Given the description of an element on the screen output the (x, y) to click on. 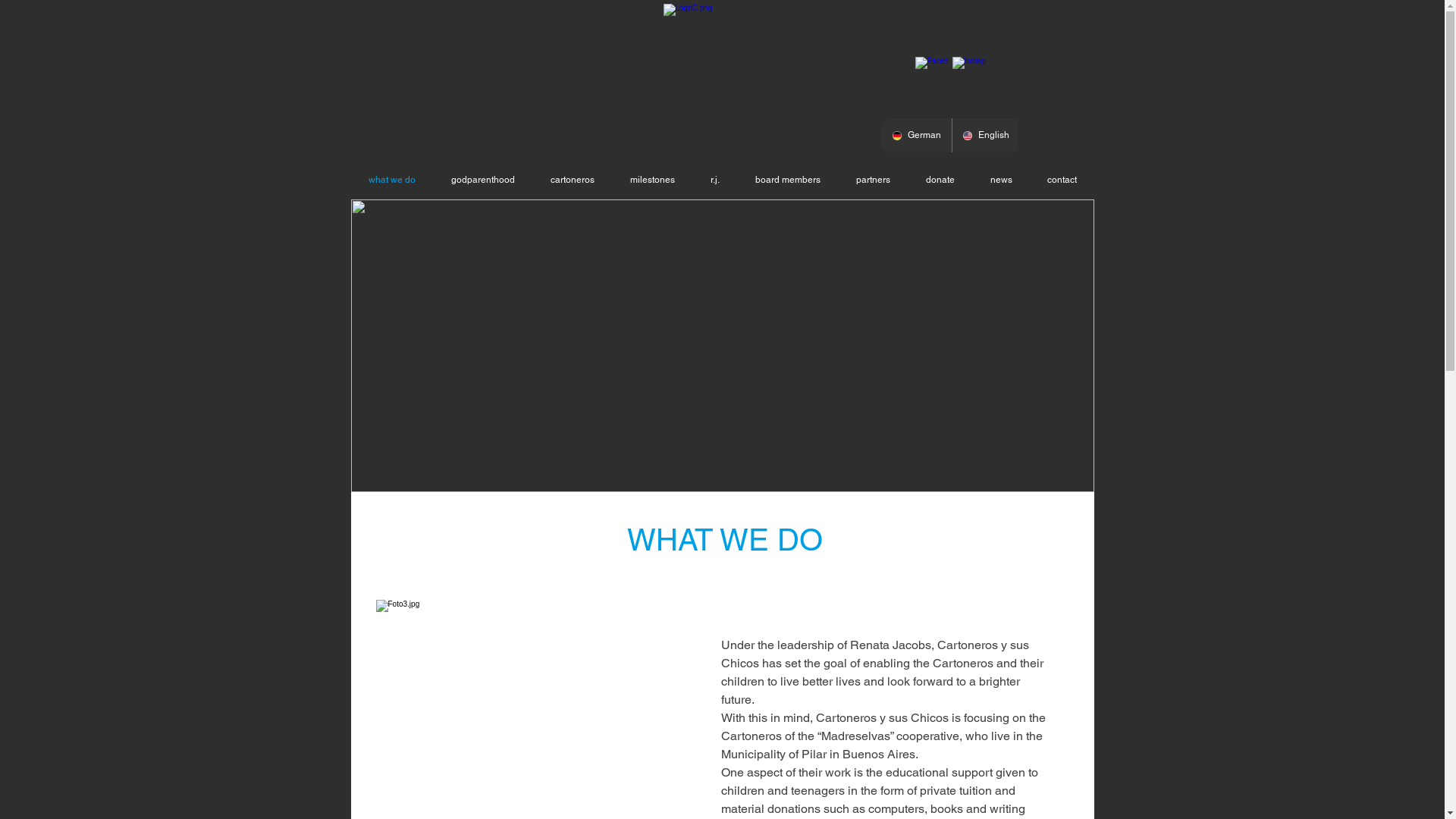
CYSC_Logo_Cyan_CMYK - Tombola 14.3.19.jp Element type: hover (719, 71)
milestones Element type: text (652, 179)
donate Element type: text (940, 179)
what we do Element type: text (391, 179)
partners Element type: text (873, 179)
German Element type: text (915, 135)
contact Element type: text (1061, 179)
English Element type: text (984, 135)
r.j. Element type: text (715, 179)
news Element type: text (1000, 179)
cartoneros Element type: text (571, 179)
godparenthood Element type: text (483, 179)
board members Element type: text (787, 179)
